Given the description of an element on the screen output the (x, y) to click on. 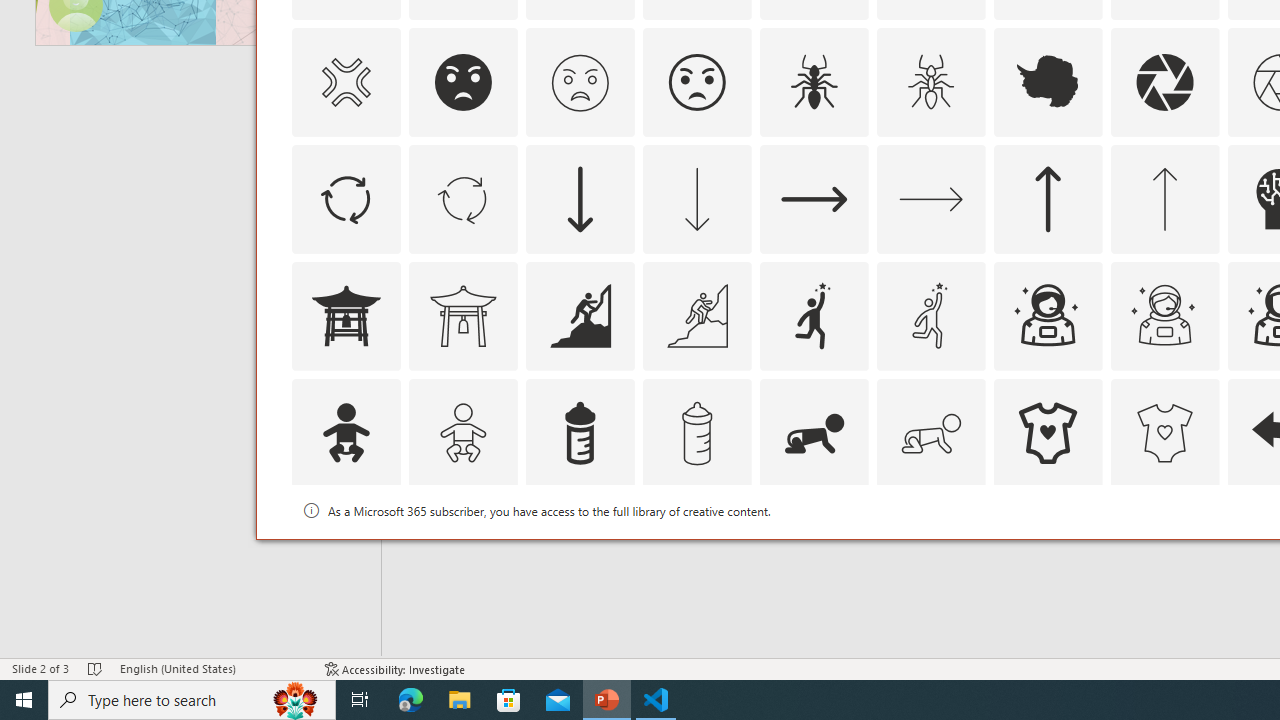
AutomationID: Icons_Aperture (1164, 82)
AutomationID: Icons_BabyCrawling_M (930, 432)
AutomationID: Icons_AngryFace (463, 82)
AutomationID: Icons_Aspiration1 (813, 316)
AutomationID: Icons_ArrowRight_M (930, 198)
AutomationID: Icons_ArrowUp_M (1164, 198)
Microsoft Edge (411, 699)
AutomationID: Icons_Baby_M (463, 432)
